Given the description of an element on the screen output the (x, y) to click on. 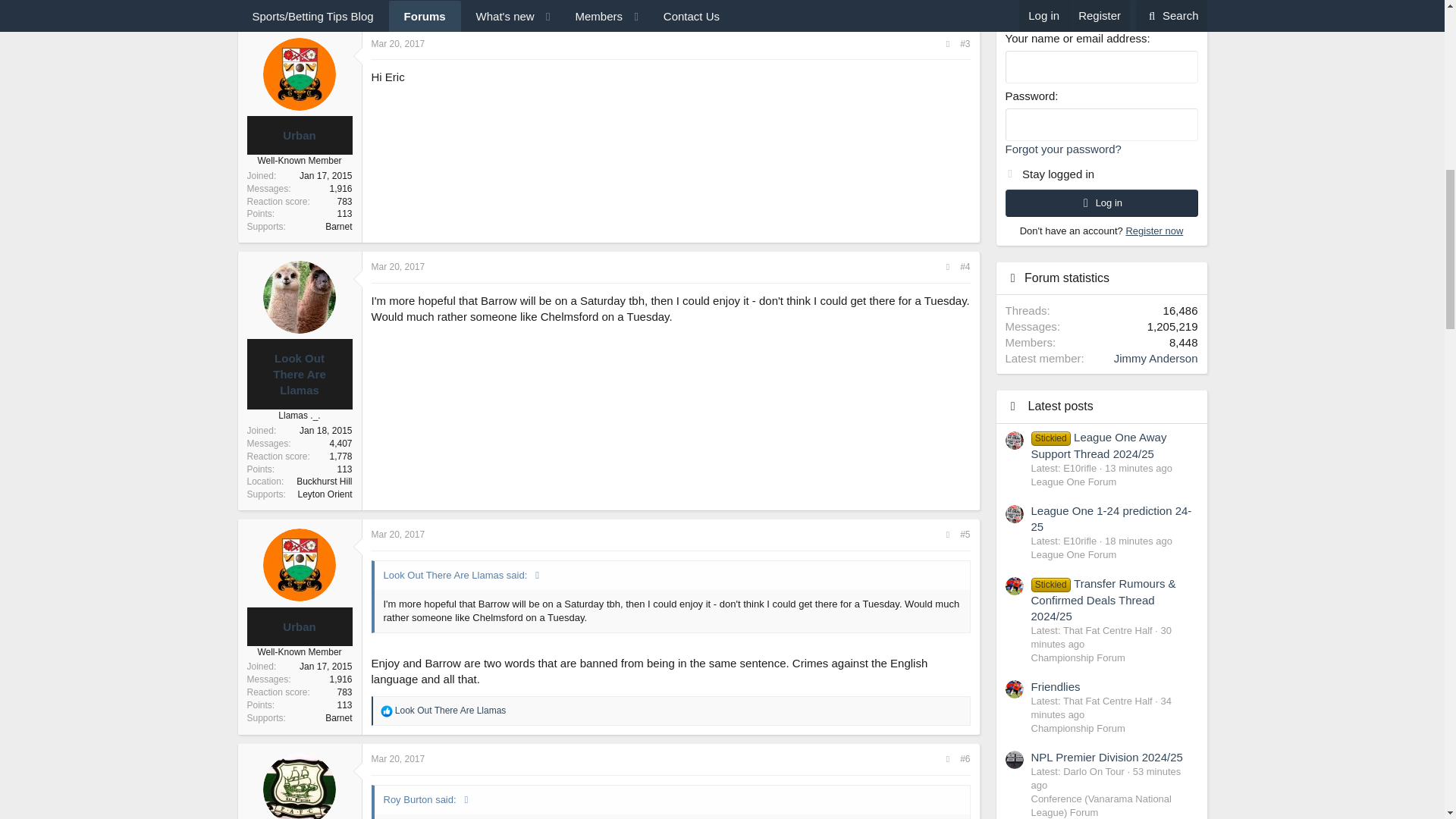
1 (1008, 170)
Mar 20, 2017 at 8:01 AM (398, 534)
Mar 20, 2017 at 8:23 AM (398, 758)
Mar 20, 2017 at 5:56 AM (398, 43)
Mar 20, 2017 at 7:55 AM (398, 266)
Like (386, 711)
